Given the description of an element on the screen output the (x, y) to click on. 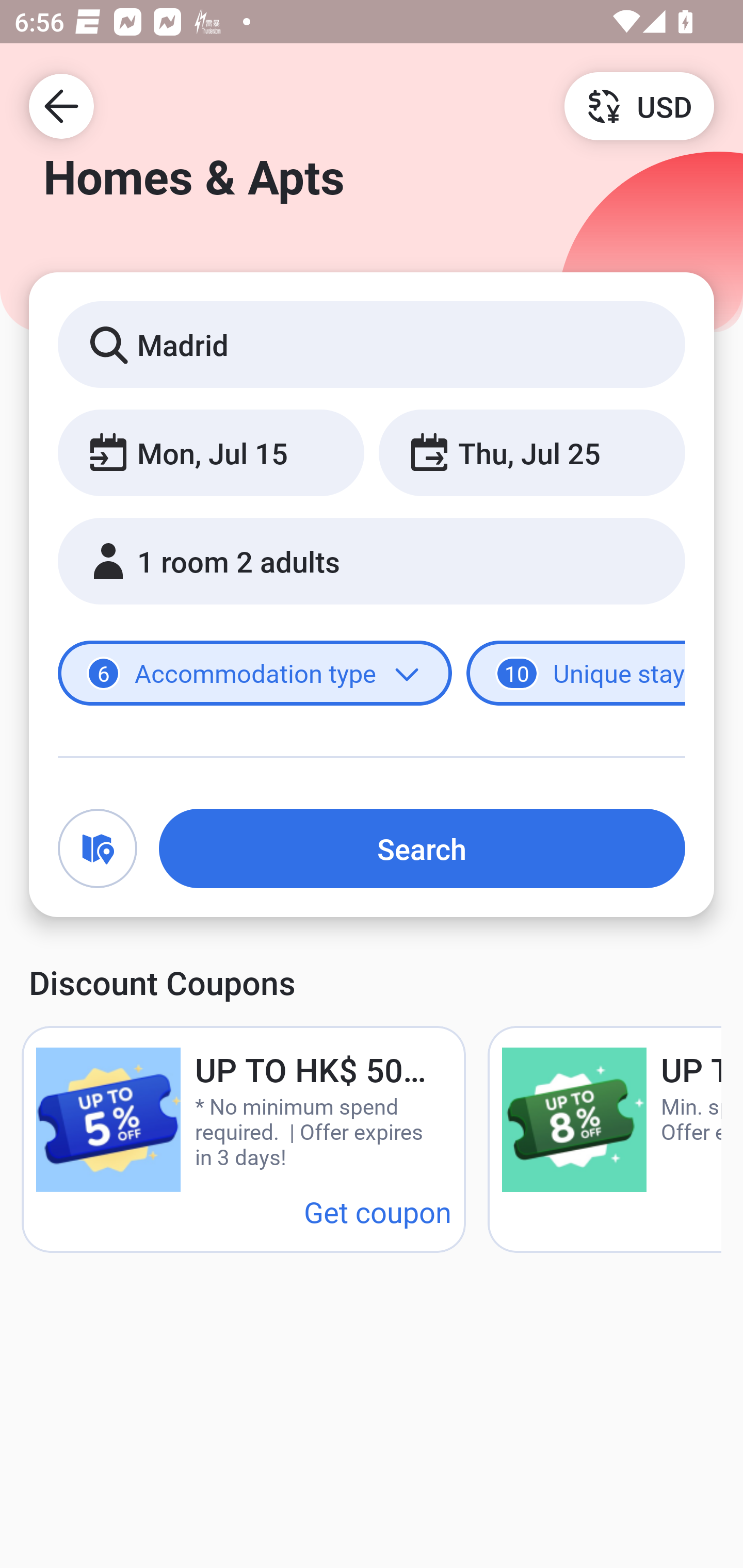
USD (639, 105)
Madrid (371, 344)
Mon, Jul 15 (210, 452)
Thu, Jul 25 (531, 452)
1 room 2 adults (371, 561)
6 Accommodation type (254, 673)
10 Unique stays (575, 673)
Search (422, 848)
Get coupon (377, 1211)
